Given the description of an element on the screen output the (x, y) to click on. 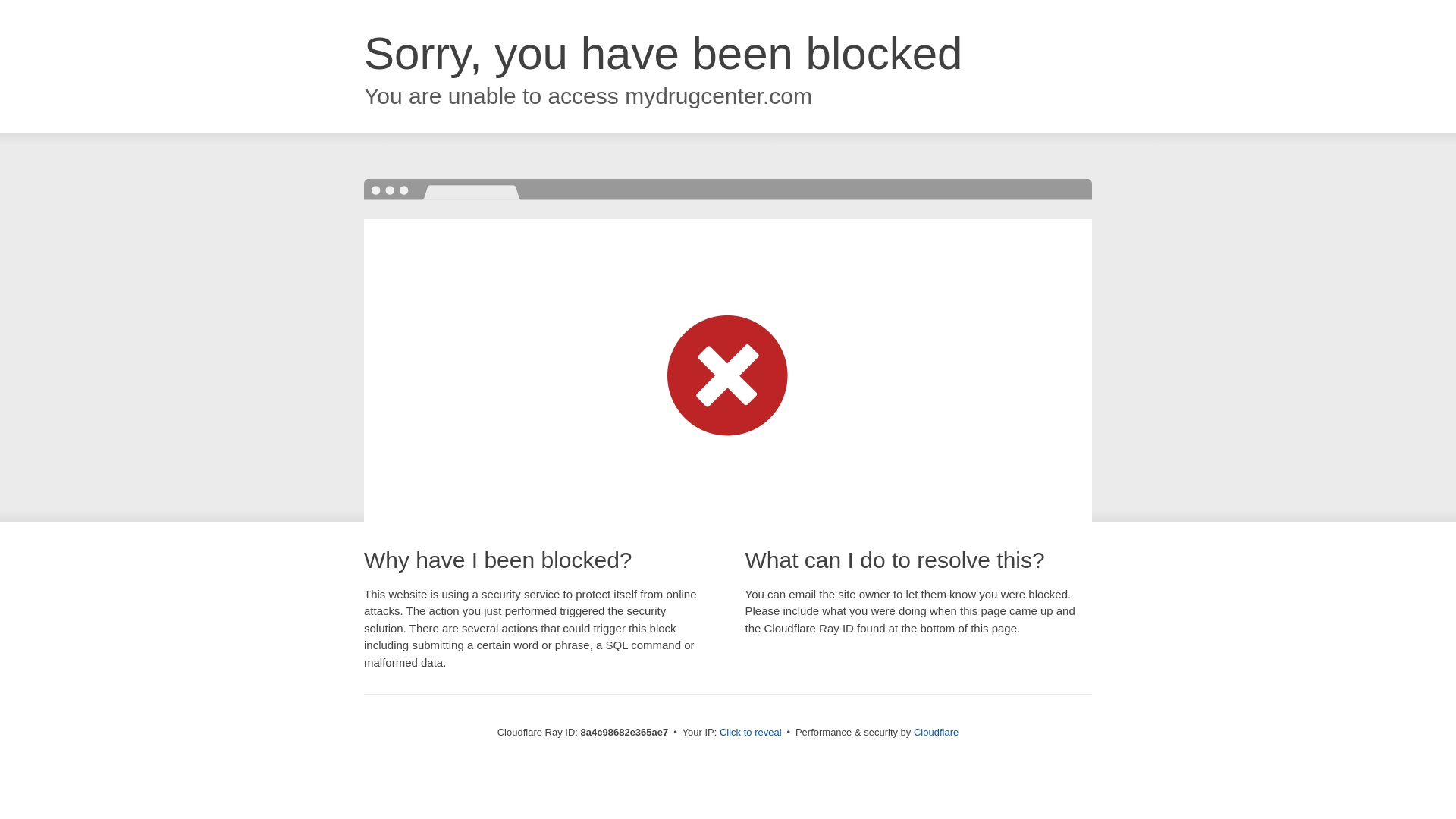
Cloudflare (936, 731)
Click to reveal (750, 732)
